Given the description of an element on the screen output the (x, y) to click on. 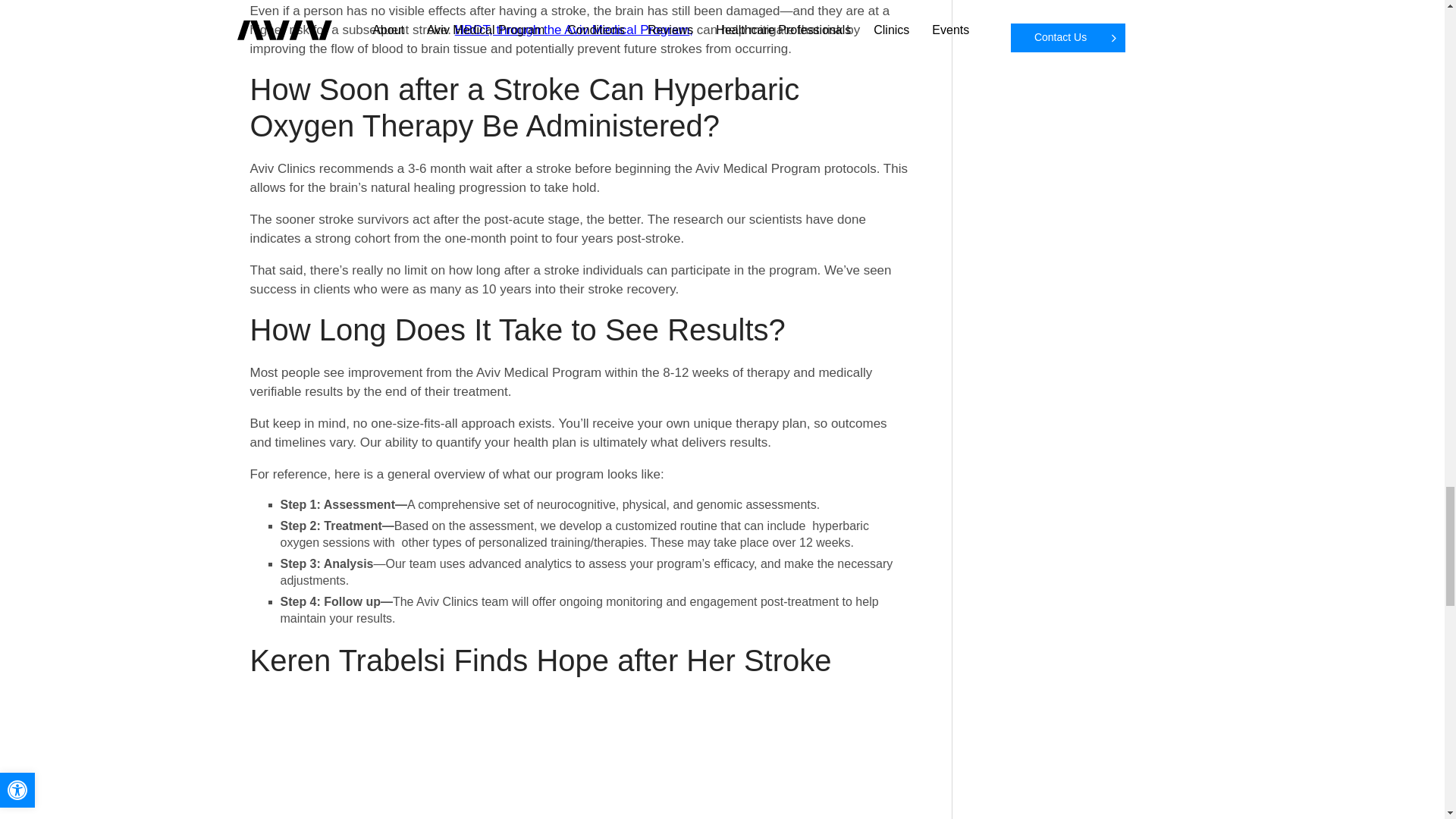
Stroke Recovery at Aviv Clinics (580, 756)
